Given the description of an element on the screen output the (x, y) to click on. 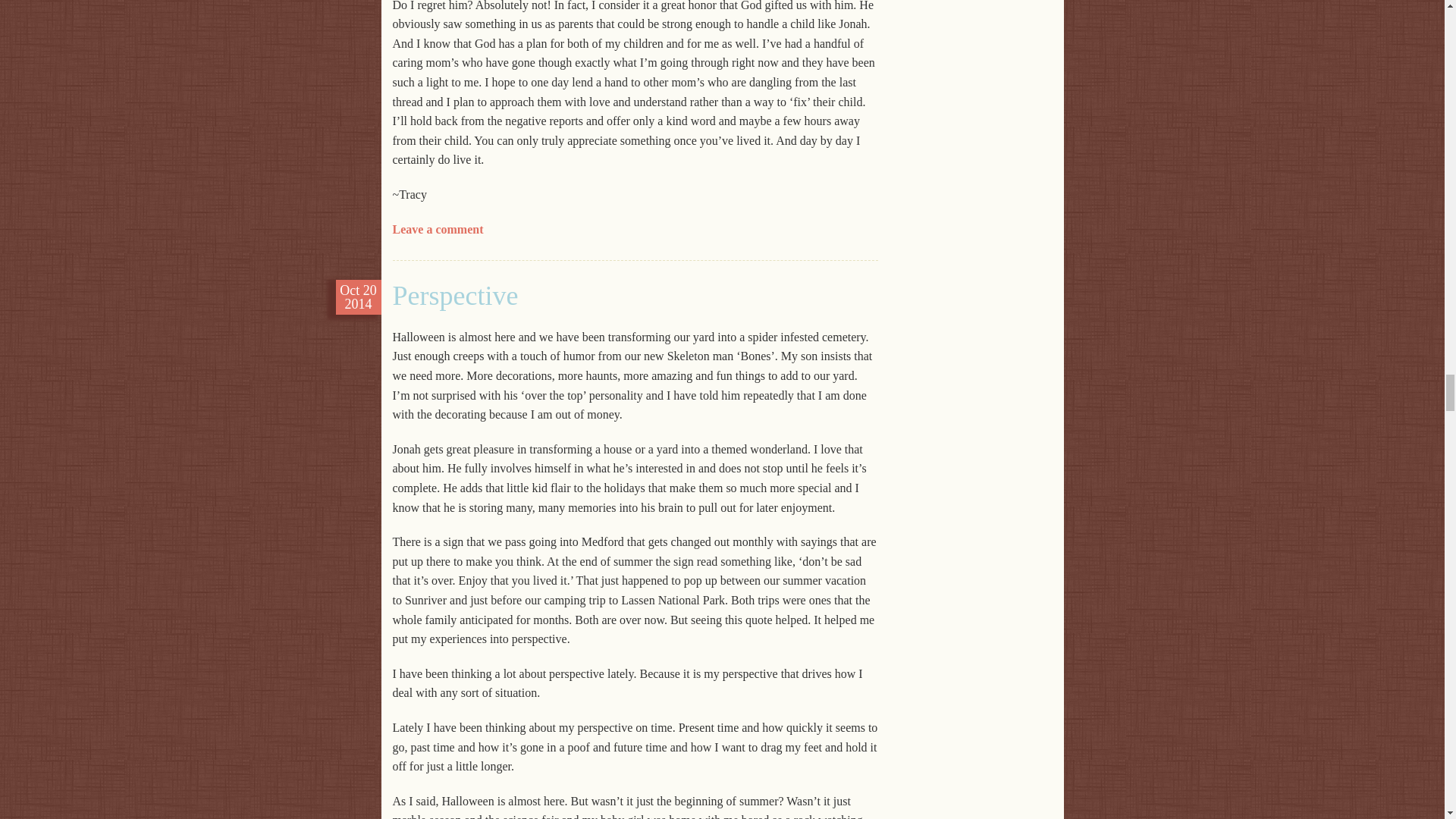
Perspective (455, 295)
Leave a comment (438, 228)
Oct 20 2014 (358, 297)
